Given the description of an element on the screen output the (x, y) to click on. 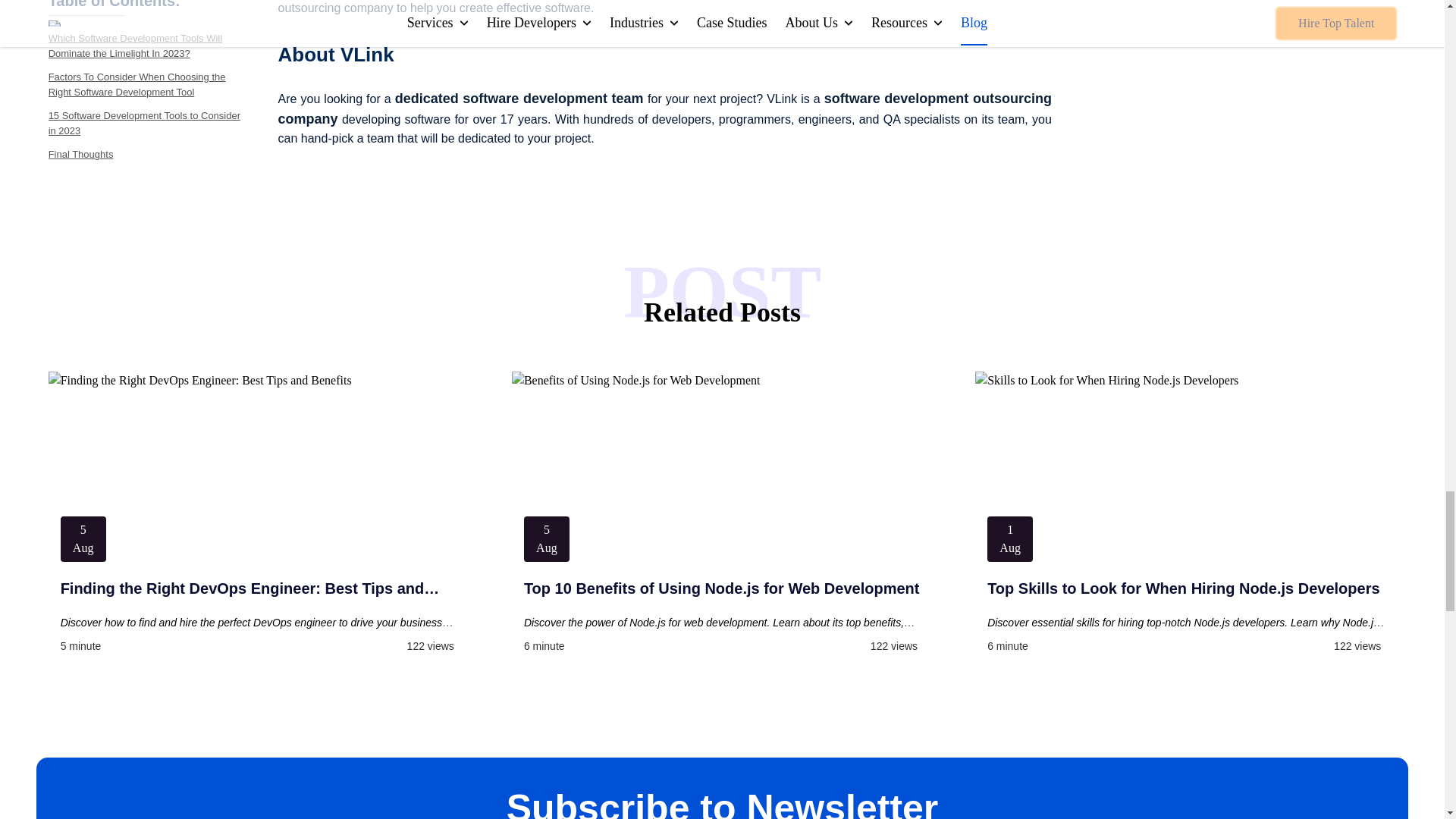
Finding the Right DevOps Engineer: Best Tips and Benefits (259, 588)
Top Skills to Look for When Hiring Node.js Developers (1185, 588)
Top 10 Benefits of Using Node.js for Web Development (722, 588)
